Given the description of an element on the screen output the (x, y) to click on. 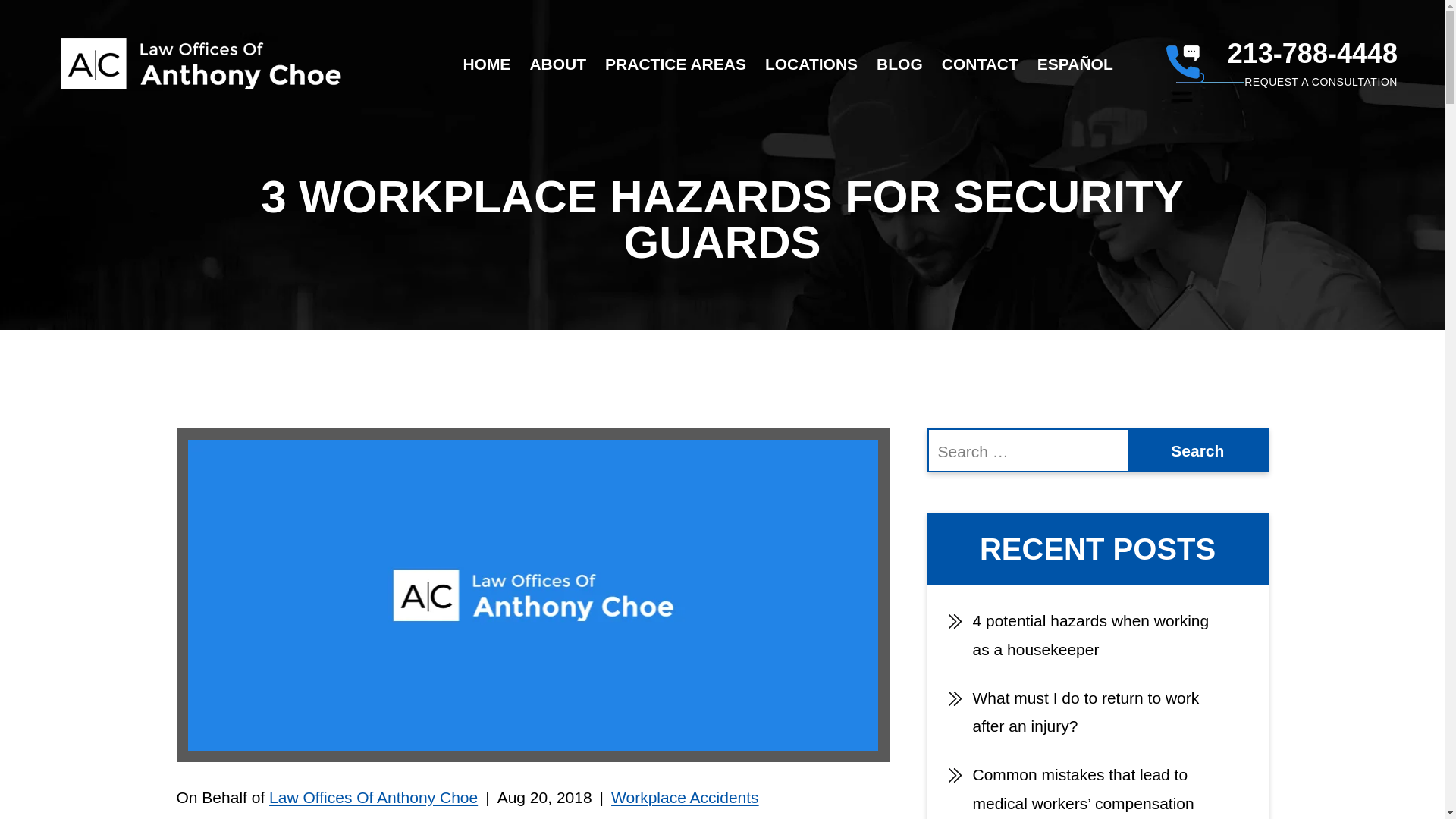
LOCATIONS (811, 64)
CONTACT (979, 64)
PRACTICE AREAS (675, 64)
ABOUT (557, 64)
Search (1197, 449)
HOME (487, 64)
Search (1197, 449)
BLOG (899, 64)
